Given the description of an element on the screen output the (x, y) to click on. 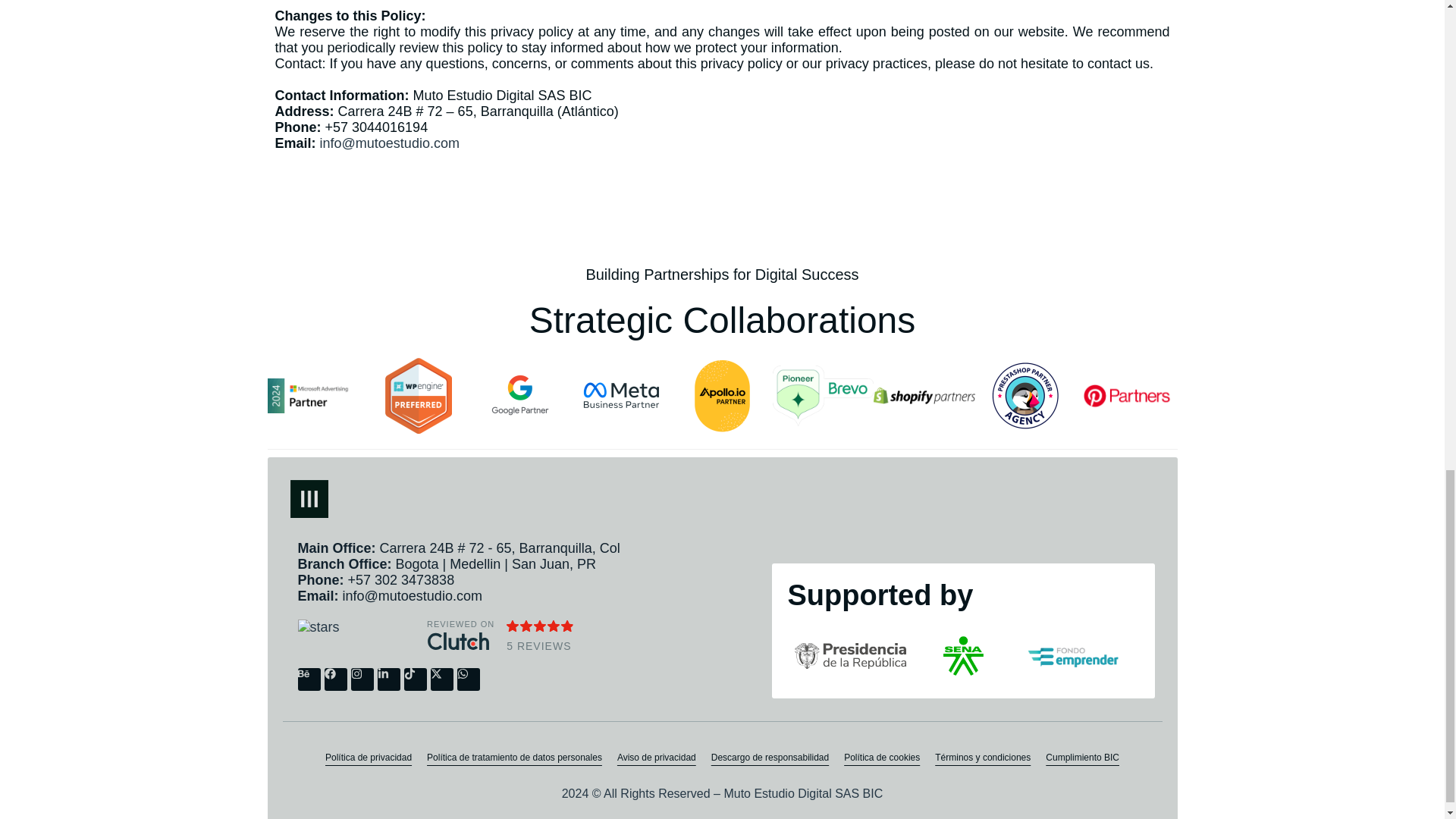
Descargo de responsabilidad (769, 757)
Cumplimiento BIC (1082, 757)
Aviso de privacidad (656, 757)
